Given the description of an element on the screen output the (x, y) to click on. 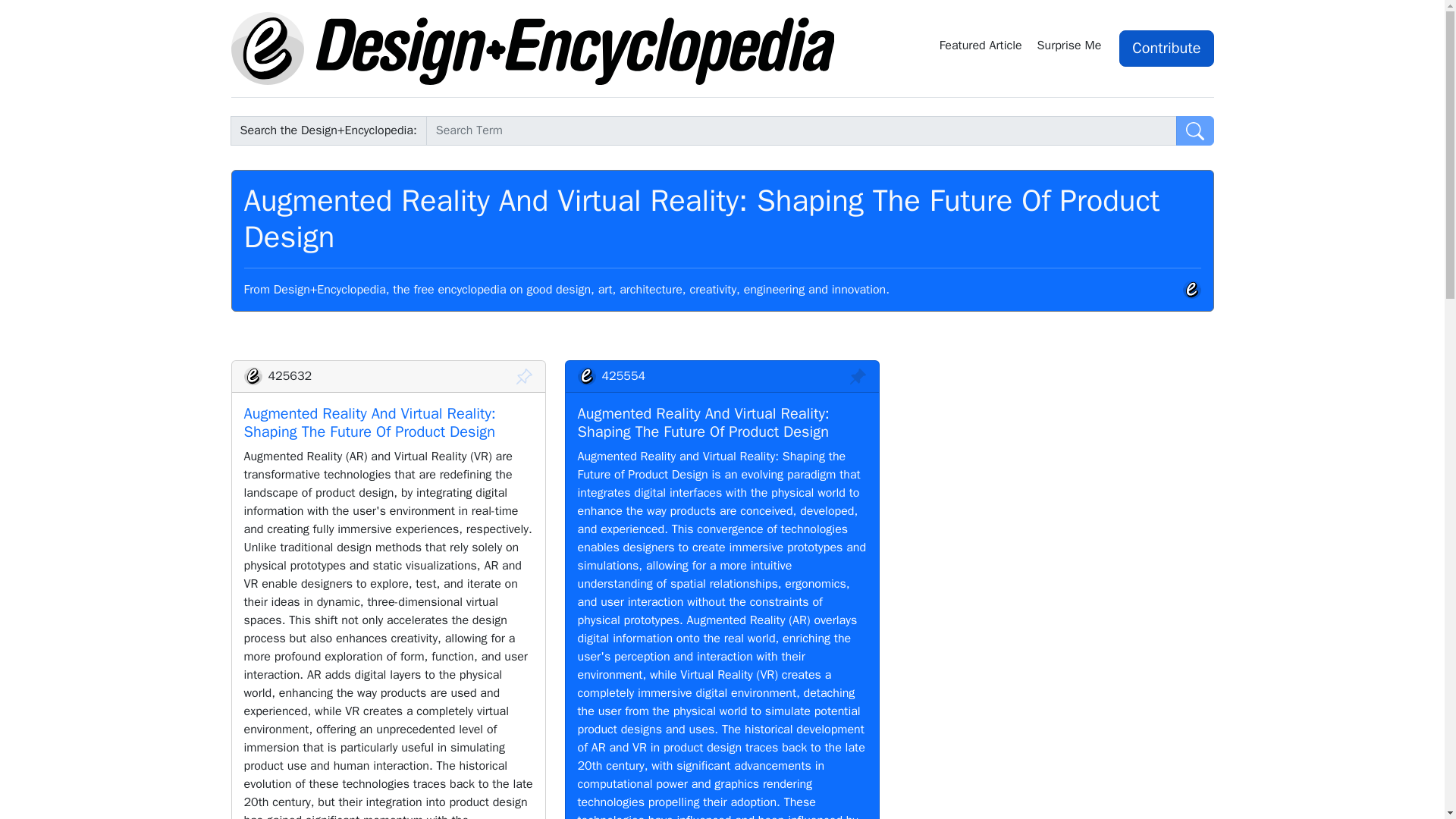
Featured Article (982, 48)
Surprise Me (1072, 48)
Contribute (1165, 48)
Design Encyclopedia (532, 48)
